Given the description of an element on the screen output the (x, y) to click on. 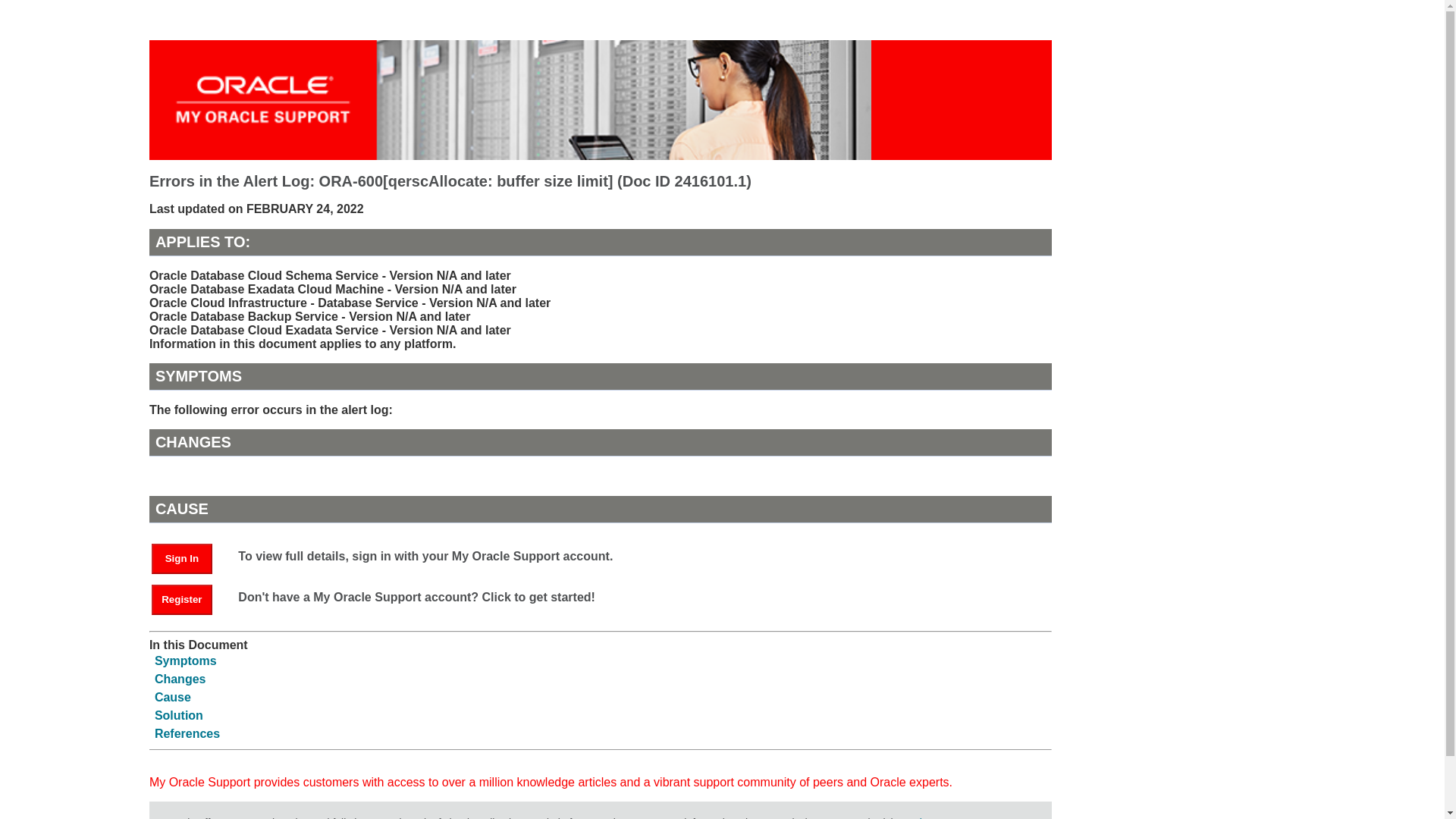
Register (181, 599)
References (186, 733)
oracle.com (924, 817)
Cause (172, 697)
Sign In (181, 558)
oracle.com (924, 817)
Sign In (189, 557)
Solution (178, 715)
Symptoms (185, 660)
Changes (180, 678)
Register (189, 598)
